Given the description of an element on the screen output the (x, y) to click on. 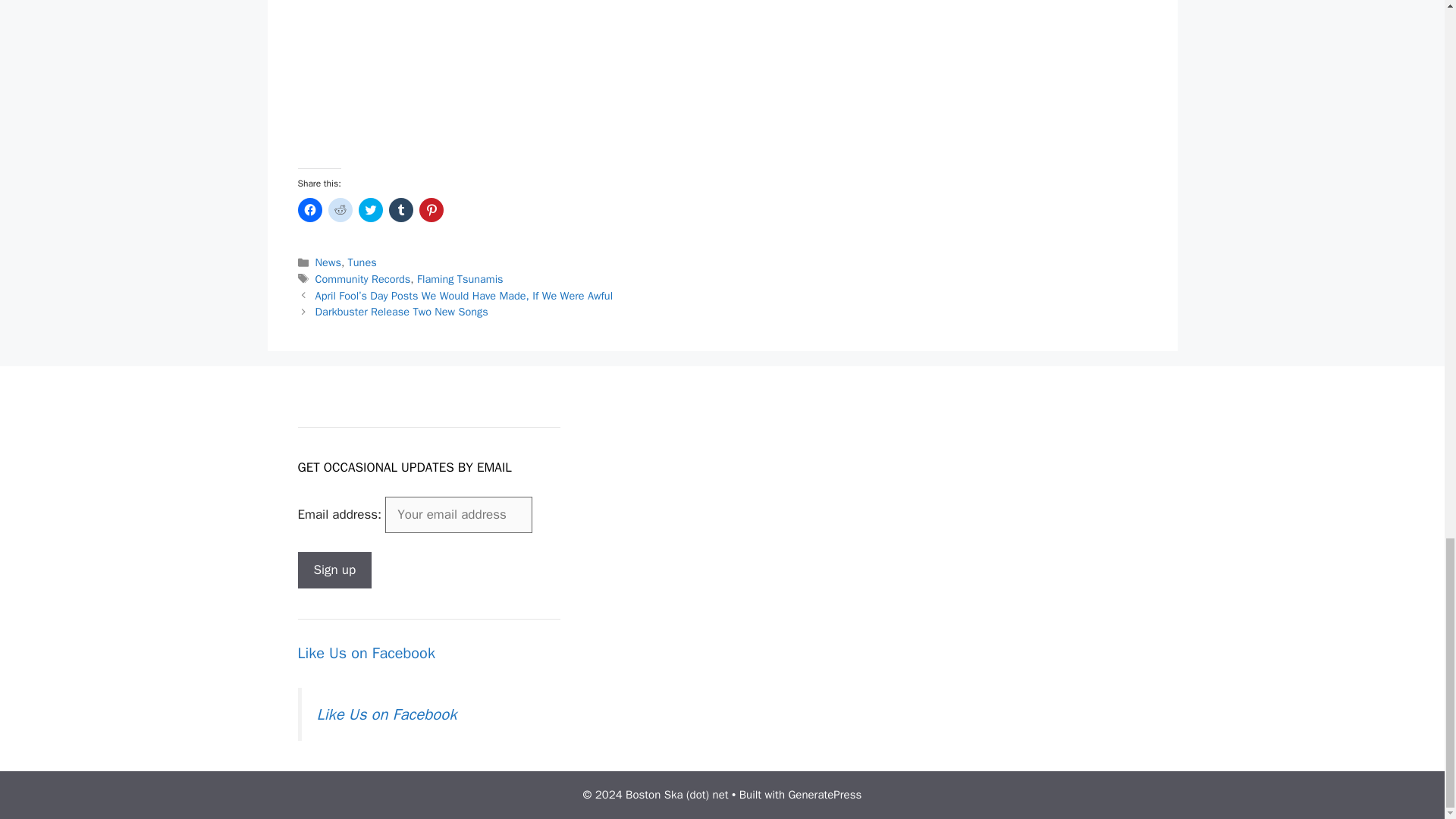
Click to share on Twitter (369, 209)
Sign up (334, 570)
Flaming Tsunamis (459, 278)
Click to share on Reddit (339, 209)
Click to share on Tumblr (400, 209)
Click to share on Facebook (309, 209)
GeneratePress (824, 794)
Community Records (362, 278)
Sign up (334, 570)
Tunes (362, 262)
Darkbuster Release Two New Songs (401, 311)
Like Us on Facebook (365, 652)
News (327, 262)
Like Us on Facebook (387, 713)
Click to share on Pinterest (430, 209)
